Given the description of an element on the screen output the (x, y) to click on. 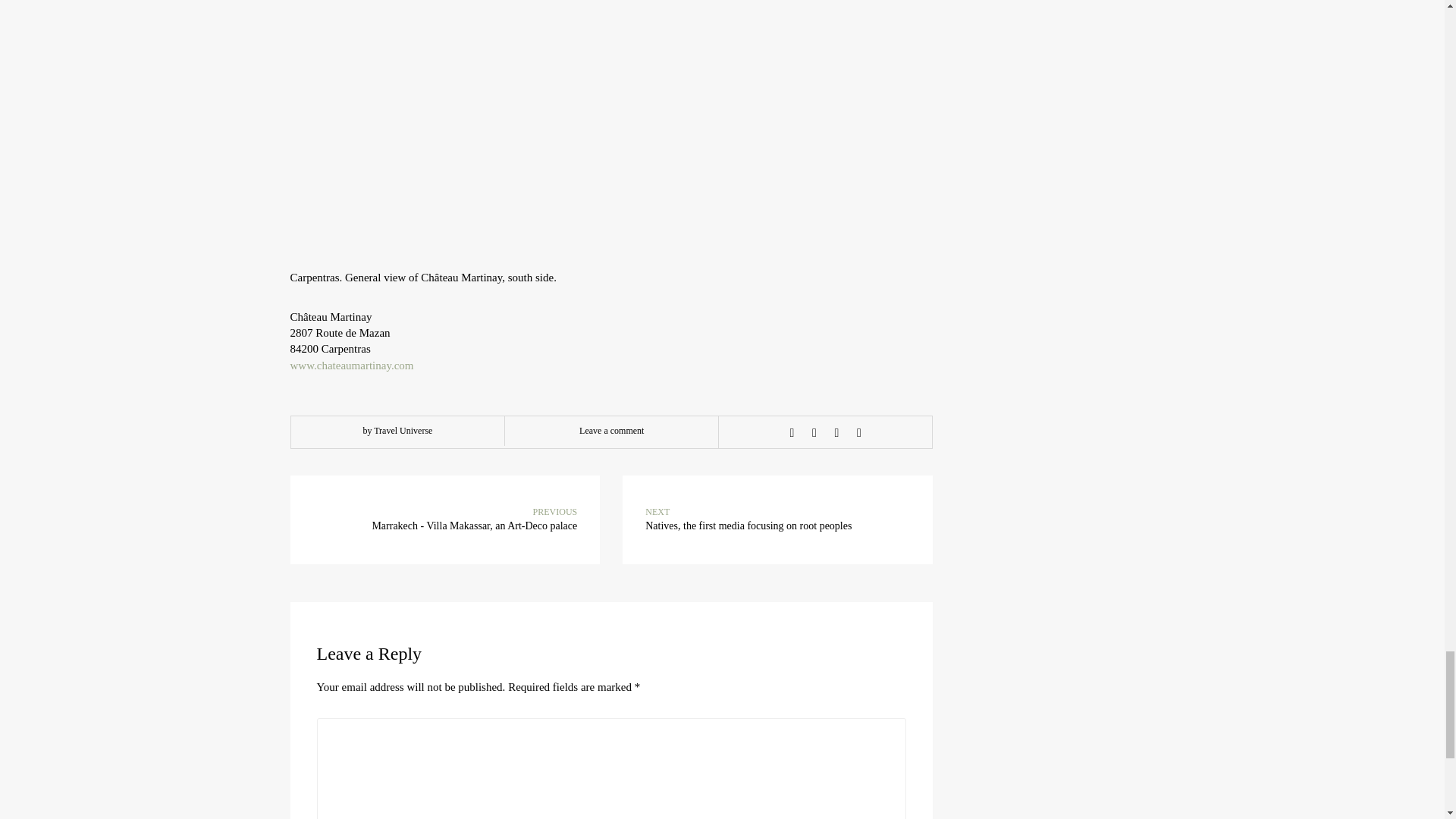
Share with Google Plus (836, 432)
Share this (791, 432)
Tweet this (814, 432)
Pin this (858, 432)
